Given the description of an element on the screen output the (x, y) to click on. 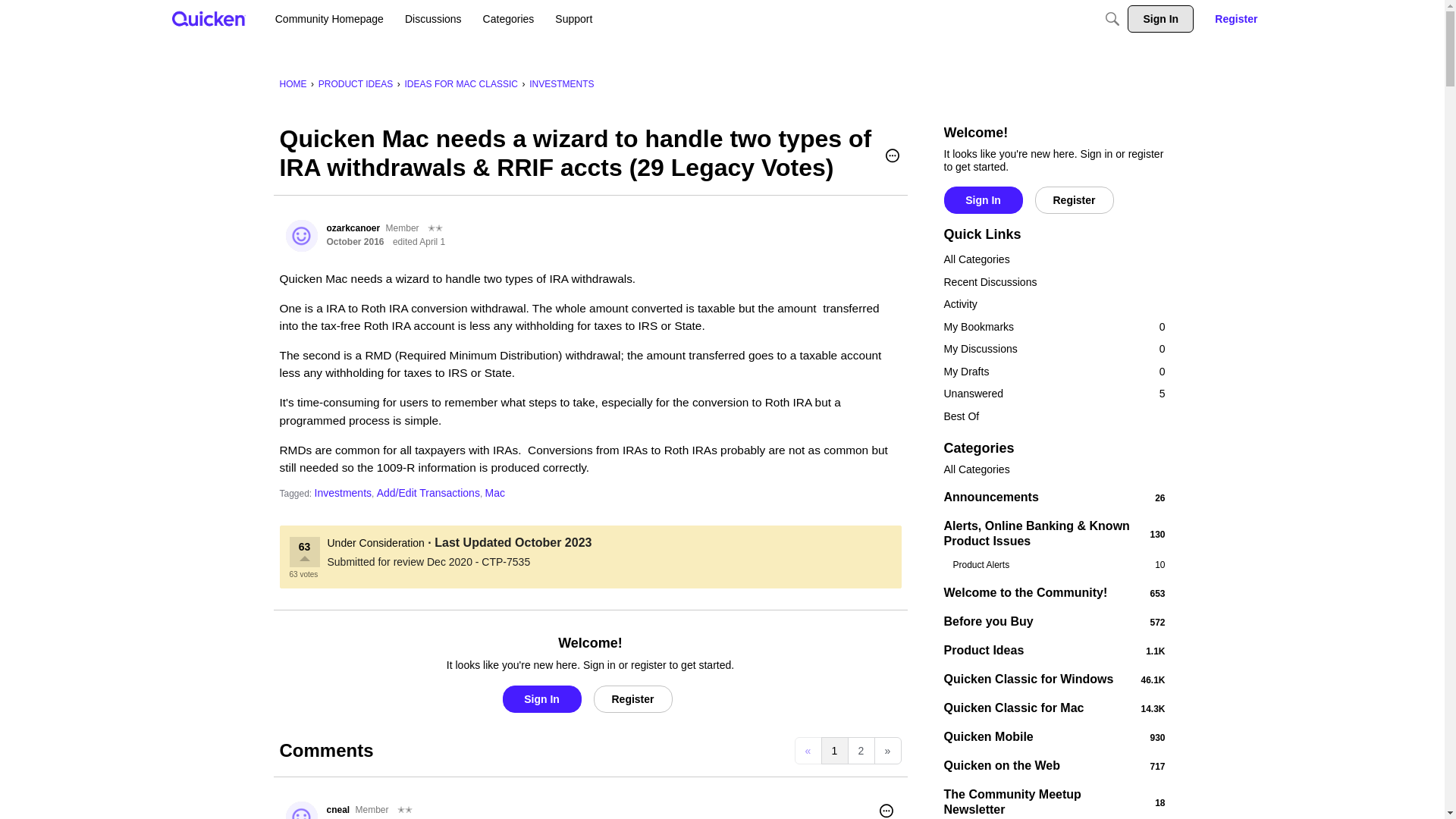
Newbie (404, 809)
2 (861, 750)
Support (573, 18)
Search (1112, 18)
Register (631, 698)
Sign In (1159, 18)
Register (1235, 18)
Categories (508, 18)
ozarkcanoer (301, 235)
cneal (301, 810)
Newbie (435, 228)
INVESTMENTS (561, 83)
October 2016 (355, 241)
Discussions (432, 18)
